Given the description of an element on the screen output the (x, y) to click on. 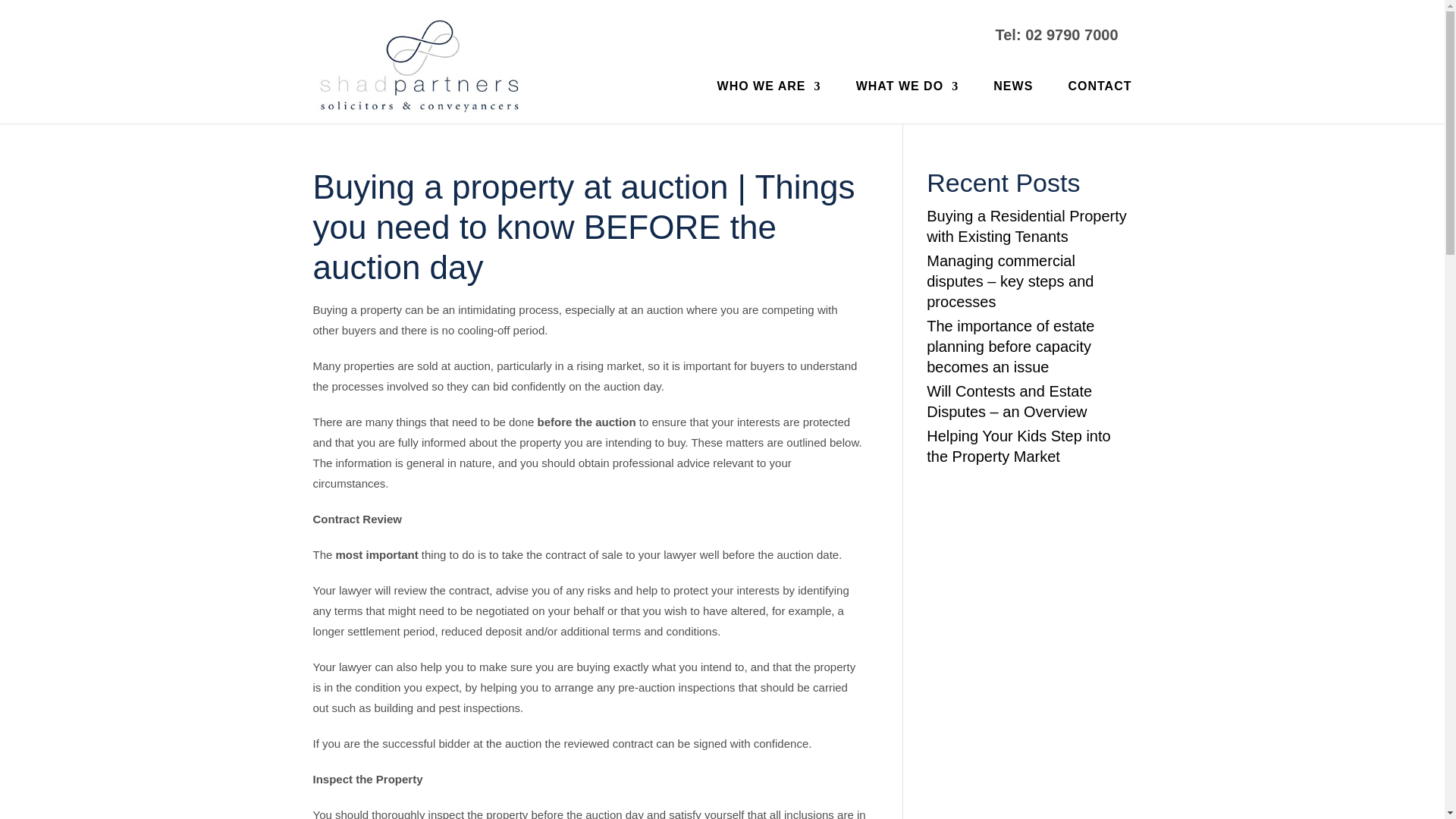
CONTACT (1099, 99)
NEWS (1012, 99)
WHAT WE DO (907, 99)
Buying a Residential Property with Existing Tenants (1028, 226)
WHO WE ARE (769, 99)
02 9790 7000 (1071, 34)
